Given the description of an element on the screen output the (x, y) to click on. 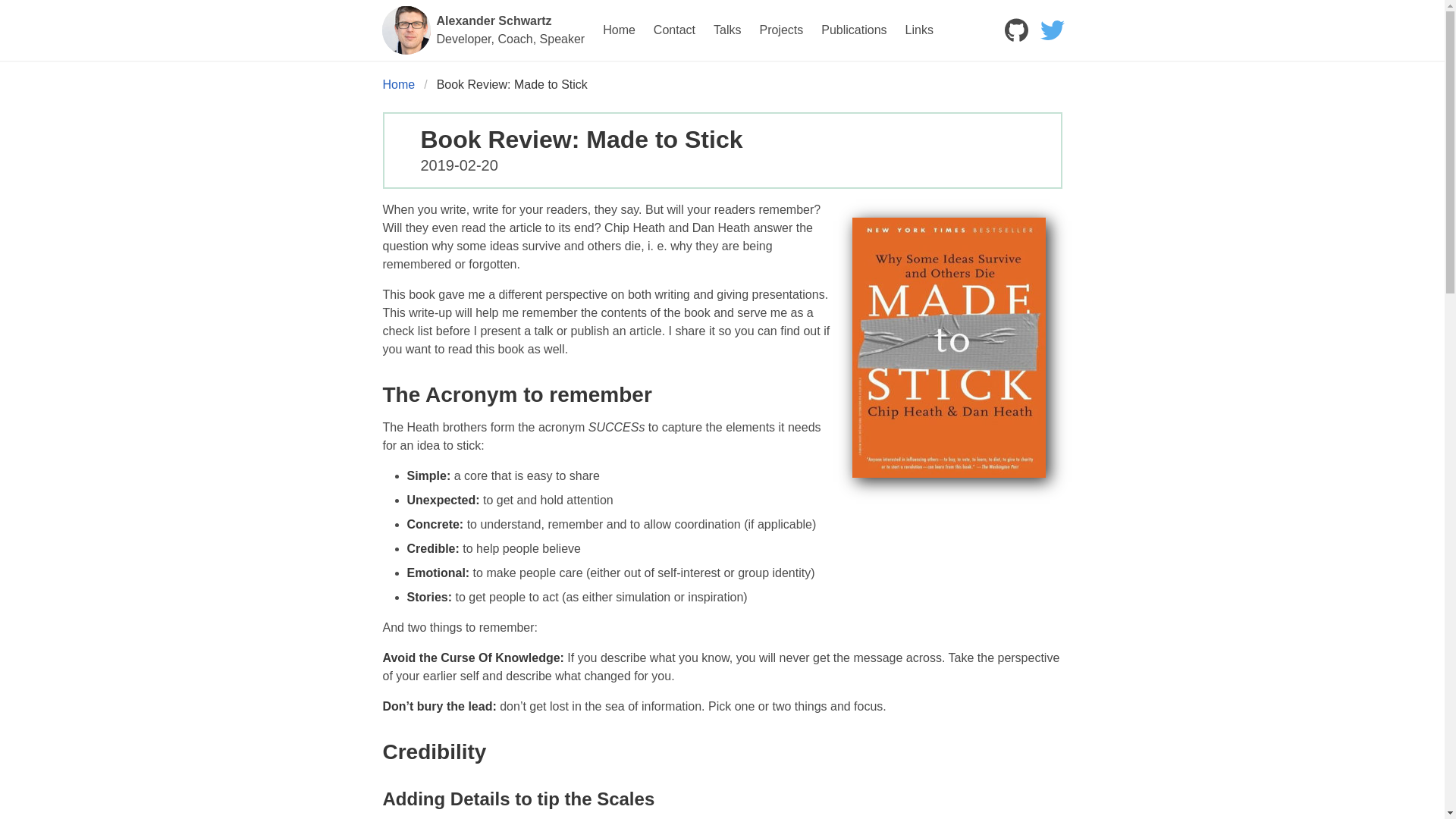
Projects (780, 30)
Github (1015, 30)
Links (919, 30)
Home (619, 30)
Home (402, 85)
Book Review: Made to Stick (512, 85)
Talks (726, 30)
Publications (853, 30)
Twitter (1051, 30)
Book: Made To Stick (948, 347)
Contact (483, 30)
